Given the description of an element on the screen output the (x, y) to click on. 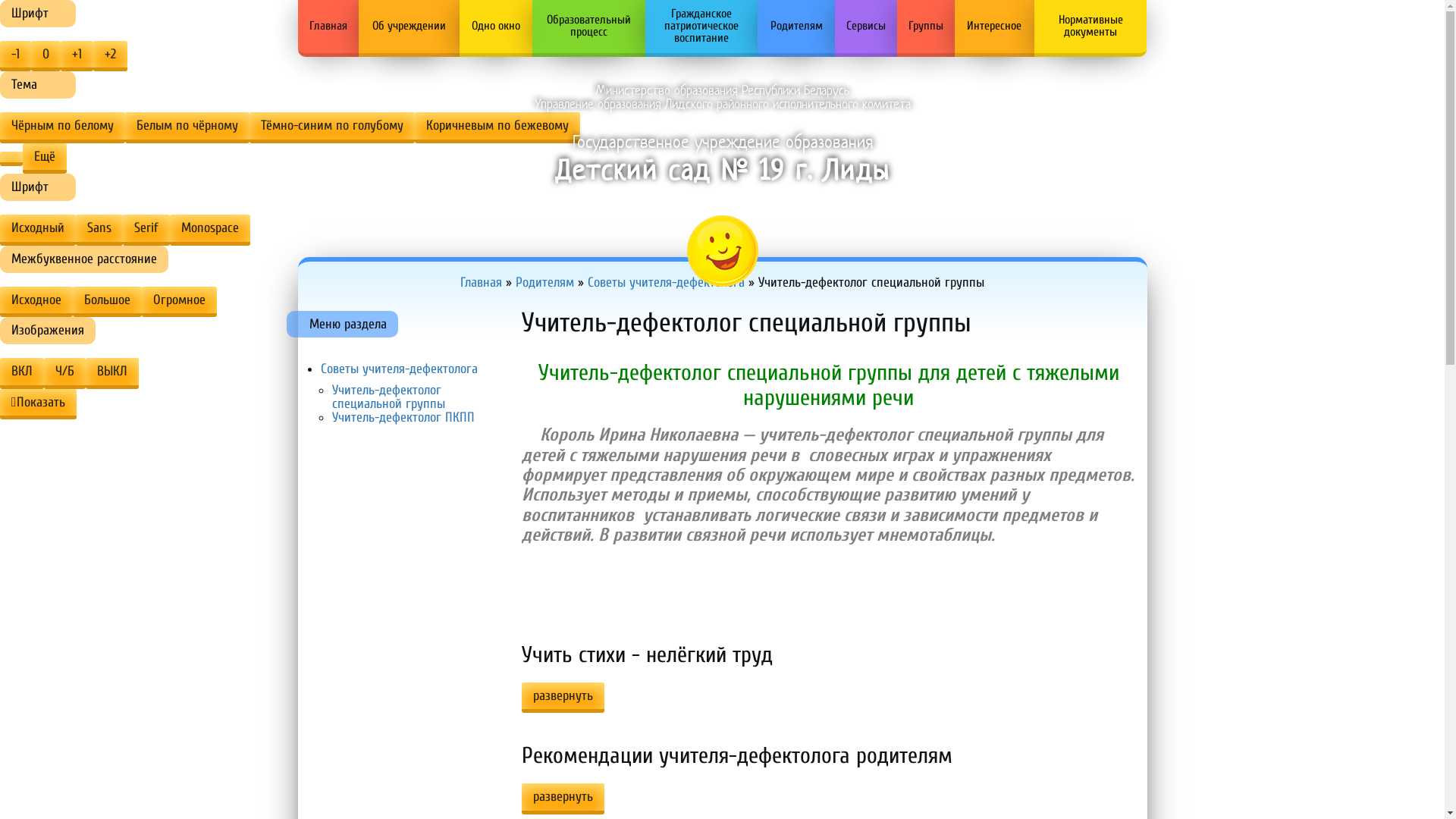
0 Element type: text (45, 56)
+2 Element type: text (110, 56)
-1 Element type: text (15, 56)
Sans Element type: text (98, 229)
Serif Element type: text (145, 229)
+1 Element type: text (76, 56)
Monospace Element type: text (209, 229)
